Given the description of an element on the screen output the (x, y) to click on. 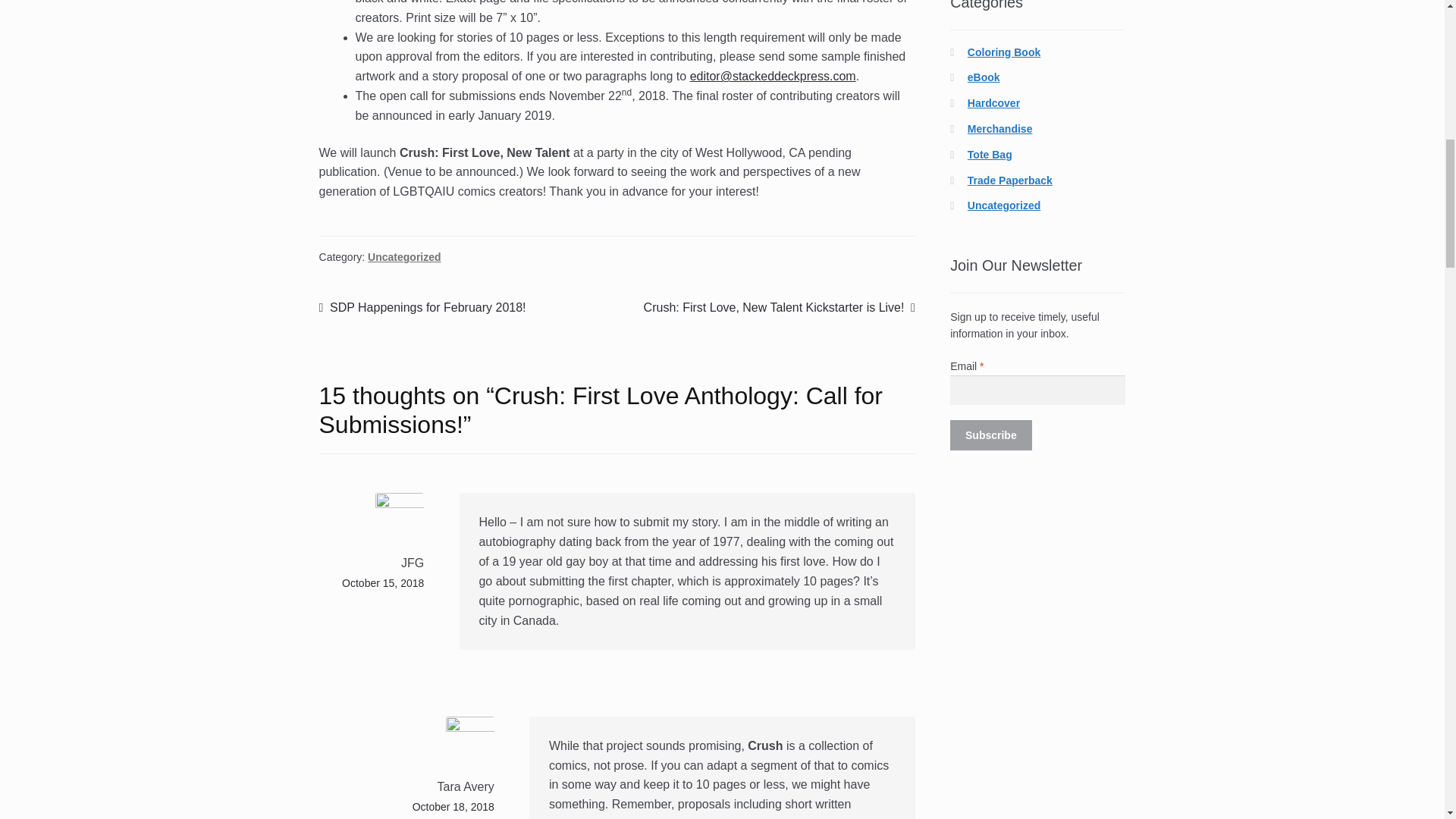
Subscribe (990, 435)
October 18, 2018 (421, 307)
Uncategorized (453, 806)
October 15, 2018 (404, 256)
